Given the description of an element on the screen output the (x, y) to click on. 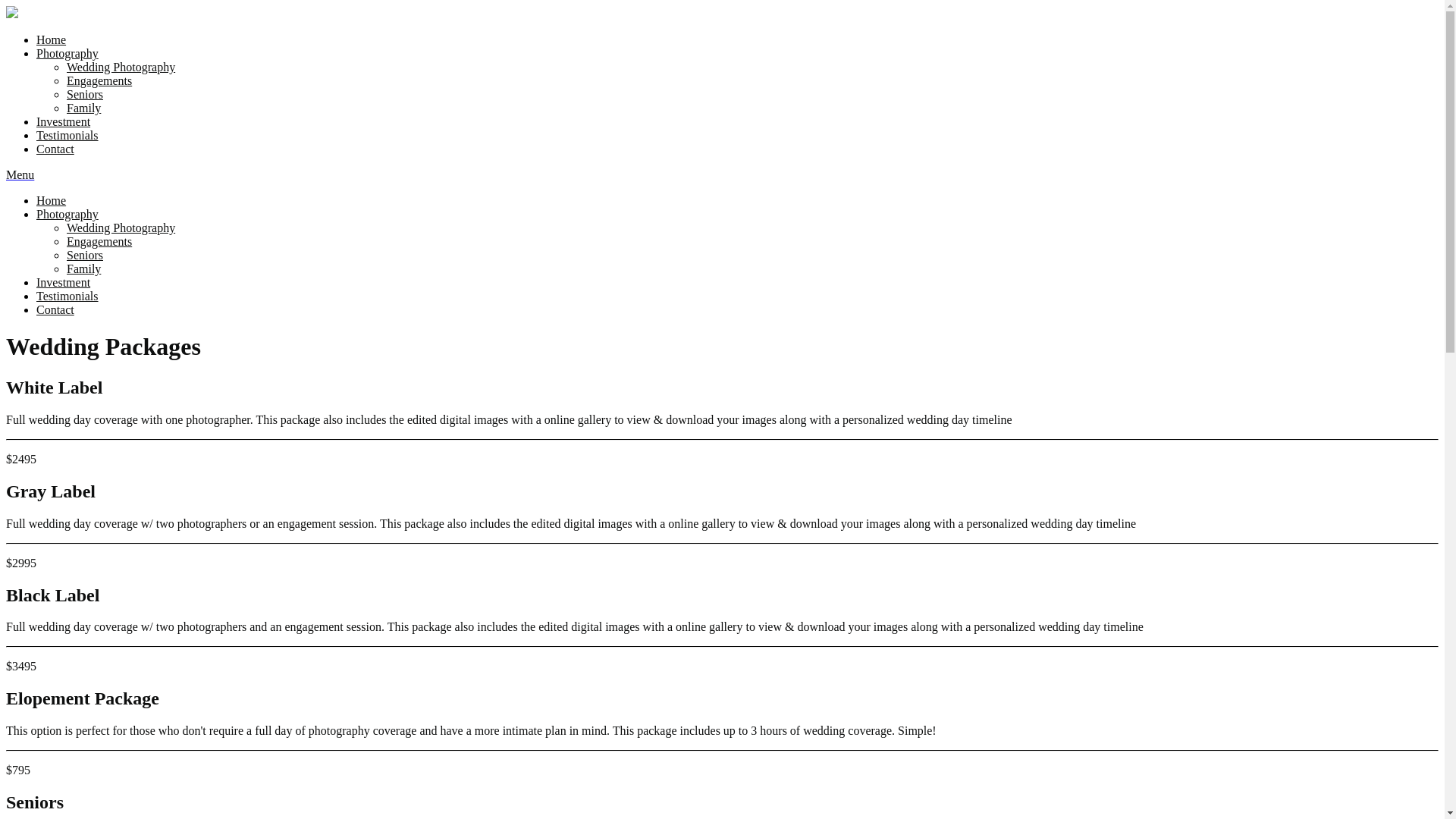
Contact Element type: text (55, 148)
Menu Element type: text (20, 174)
Home Element type: text (50, 39)
Wedding Photography Element type: text (120, 227)
Testimonials Element type: text (67, 295)
Investment Element type: text (63, 121)
Wedding Photography Element type: text (120, 66)
Photography Element type: text (67, 213)
Home Element type: text (50, 200)
Engagements Element type: text (98, 241)
Engagements Element type: text (98, 80)
Contact Element type: text (55, 309)
Photography Element type: text (67, 53)
Testimonials Element type: text (67, 134)
Investment Element type: text (63, 282)
Family Element type: text (83, 107)
Family Element type: text (83, 268)
Seniors Element type: text (84, 93)
Seniors Element type: text (84, 254)
